Given the description of an element on the screen output the (x, y) to click on. 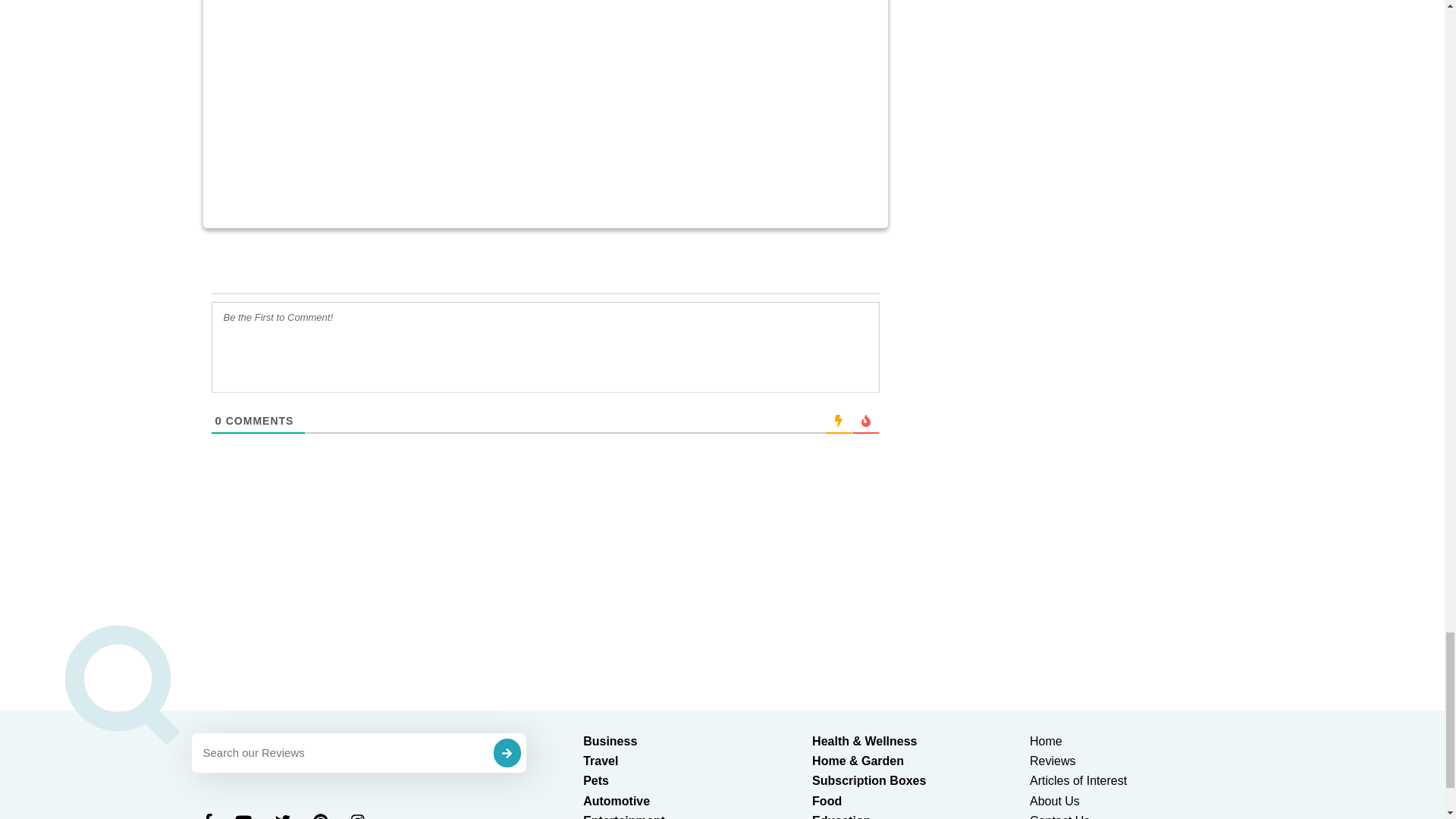
Entertainment (624, 816)
Pets (595, 780)
Education (841, 816)
Food (826, 800)
Travel (600, 760)
Automotive (616, 800)
Business (610, 740)
Subscription Boxes (869, 780)
